Given the description of an element on the screen output the (x, y) to click on. 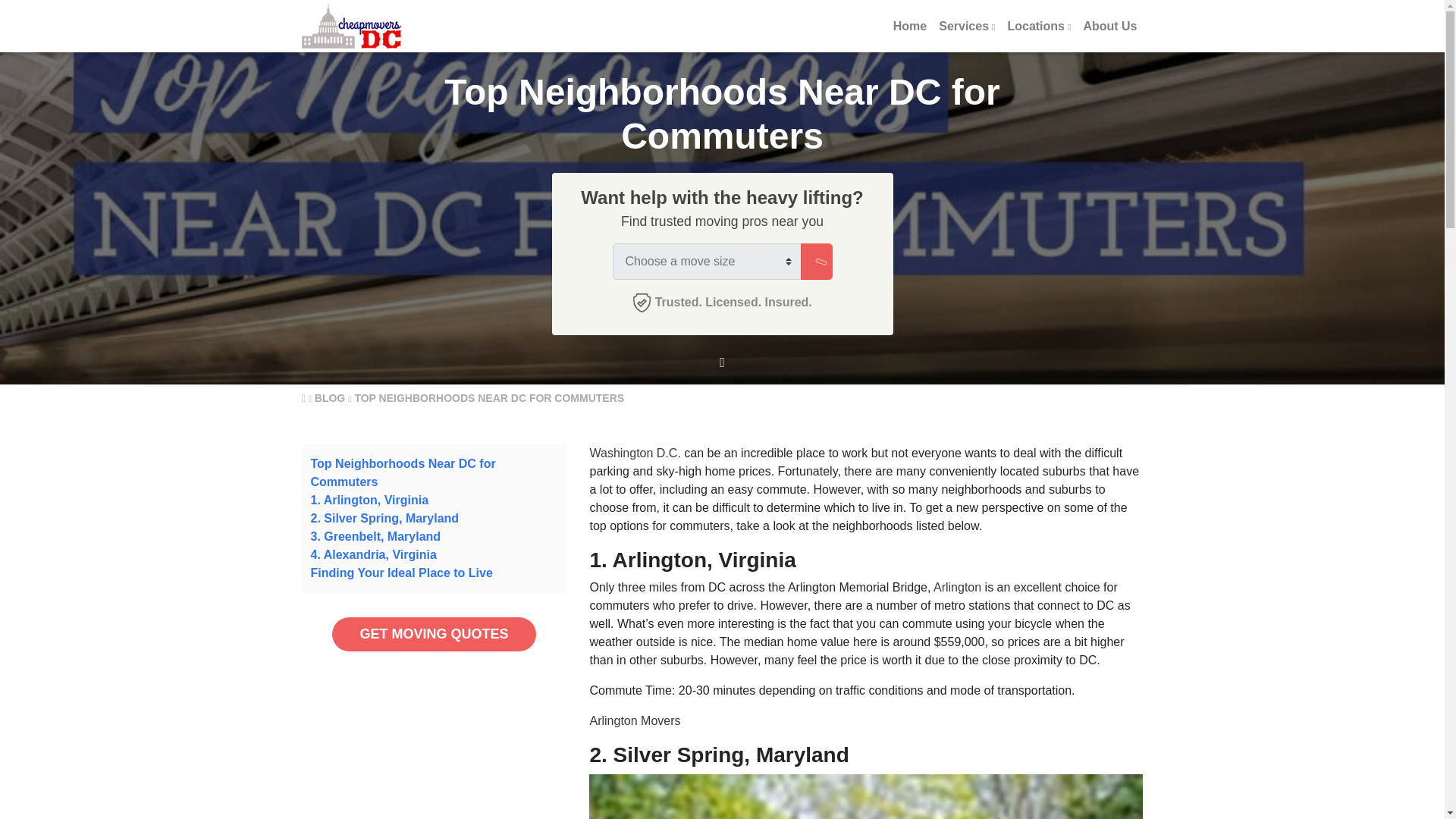
GET MOVING QUOTES (433, 634)
Locations (1039, 25)
2. Silver Spring, Maryland (385, 517)
4. Alexandria, Virginia (373, 554)
Top Neighborhoods Near DC for Commuters (403, 472)
Arlington (957, 586)
3. Greenbelt, Maryland (376, 535)
Home (909, 25)
Services (967, 25)
BLOG (329, 398)
